Given the description of an element on the screen output the (x, y) to click on. 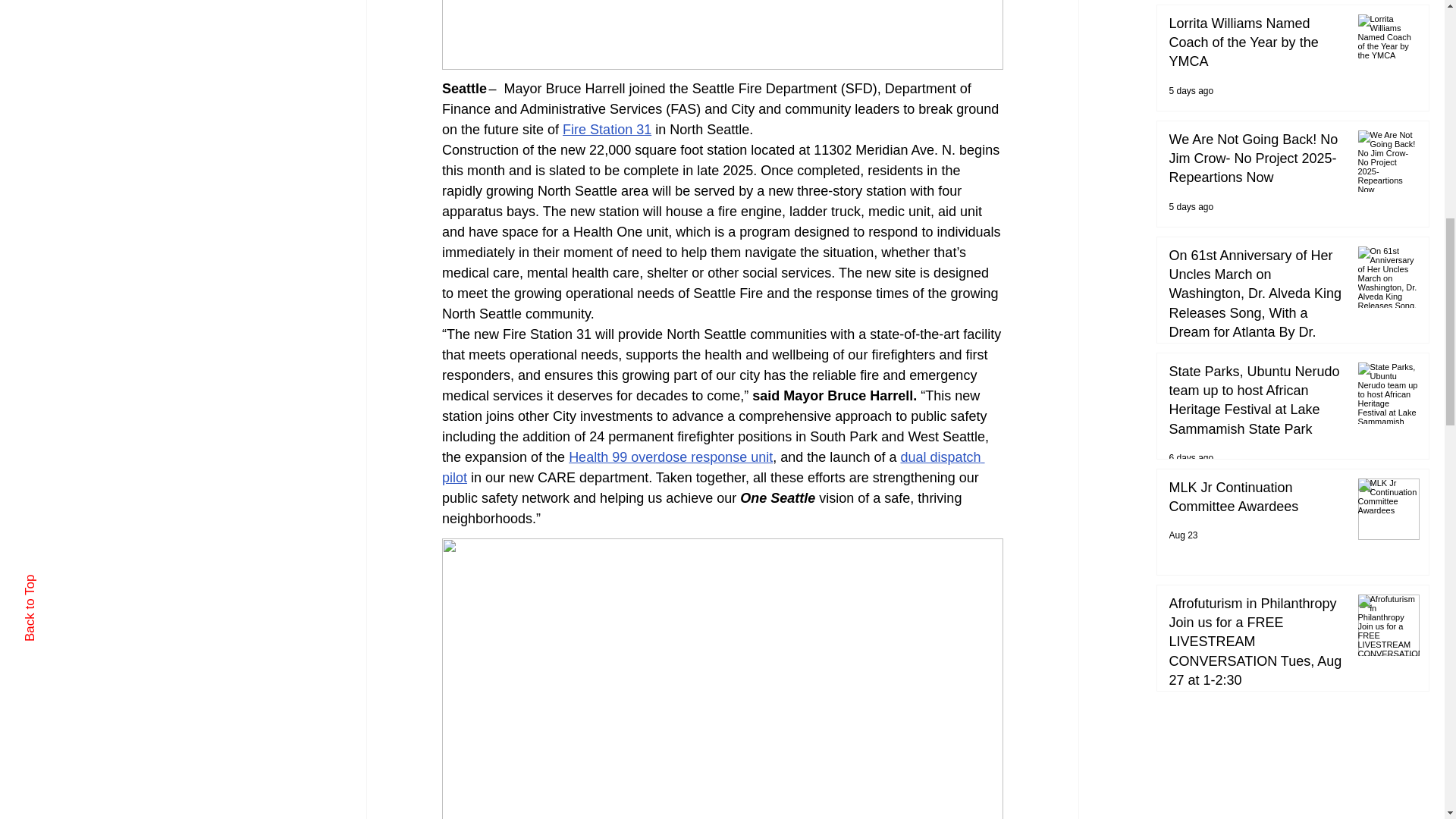
Health 99 overdose response unit (671, 457)
6 days ago (1191, 457)
5 days ago (1191, 206)
Fire Station 31 (606, 129)
Aug 23 (1183, 534)
dual dispatch pilot (712, 467)
5 days ago (1191, 90)
